Given the description of an element on the screen output the (x, y) to click on. 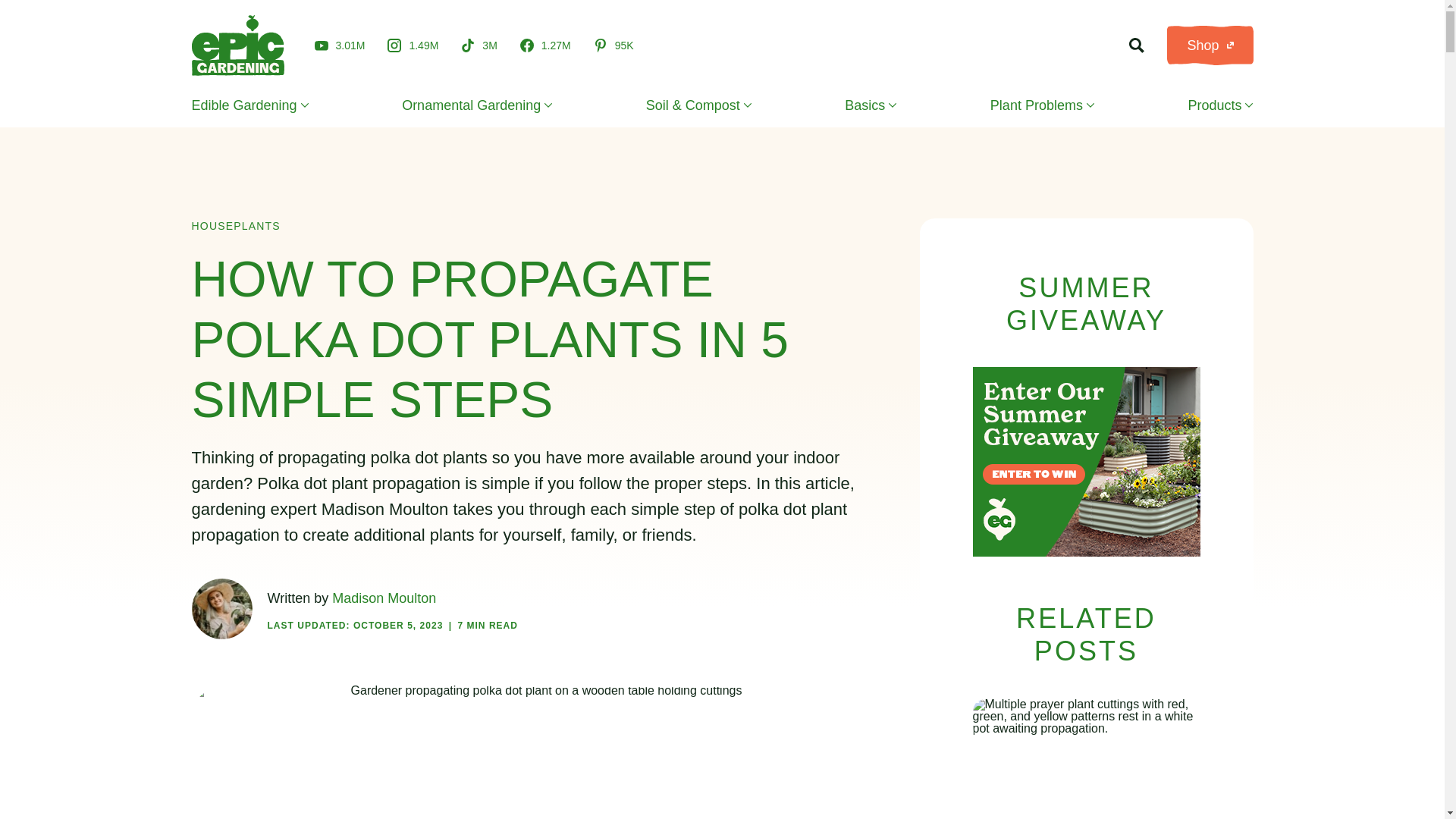
Shop (1209, 45)
95K (613, 45)
1.49M (412, 45)
1.27M (544, 45)
Basics (870, 105)
3.01M (339, 45)
Posts by Madison Moulton (383, 598)
Edible Gardening (248, 105)
Ornamental Gardening (476, 105)
3M (478, 45)
